Given the description of an element on the screen output the (x, y) to click on. 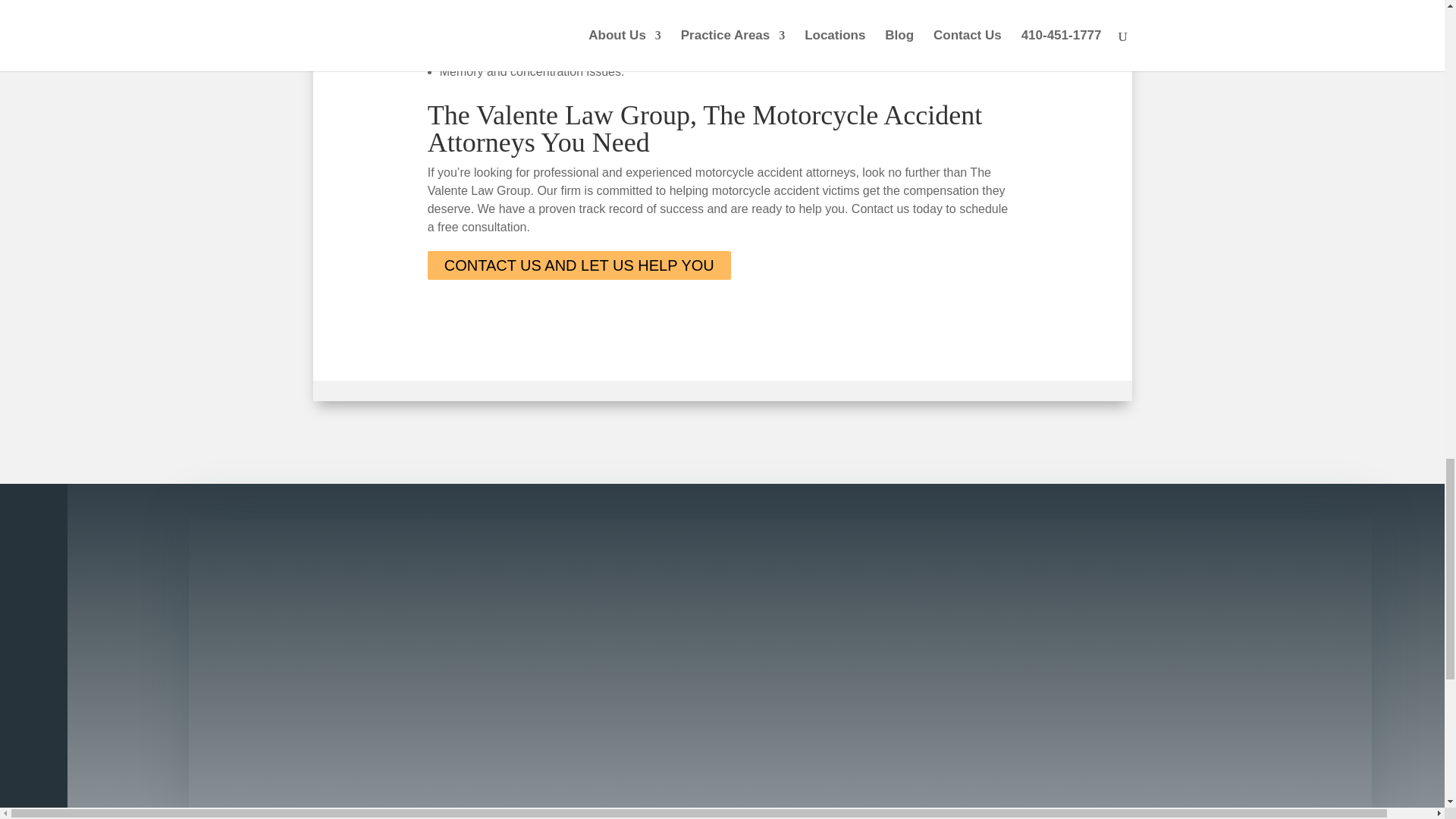
CONTACT US AND LET US HELP YOU (579, 265)
